Given the description of an element on the screen output the (x, y) to click on. 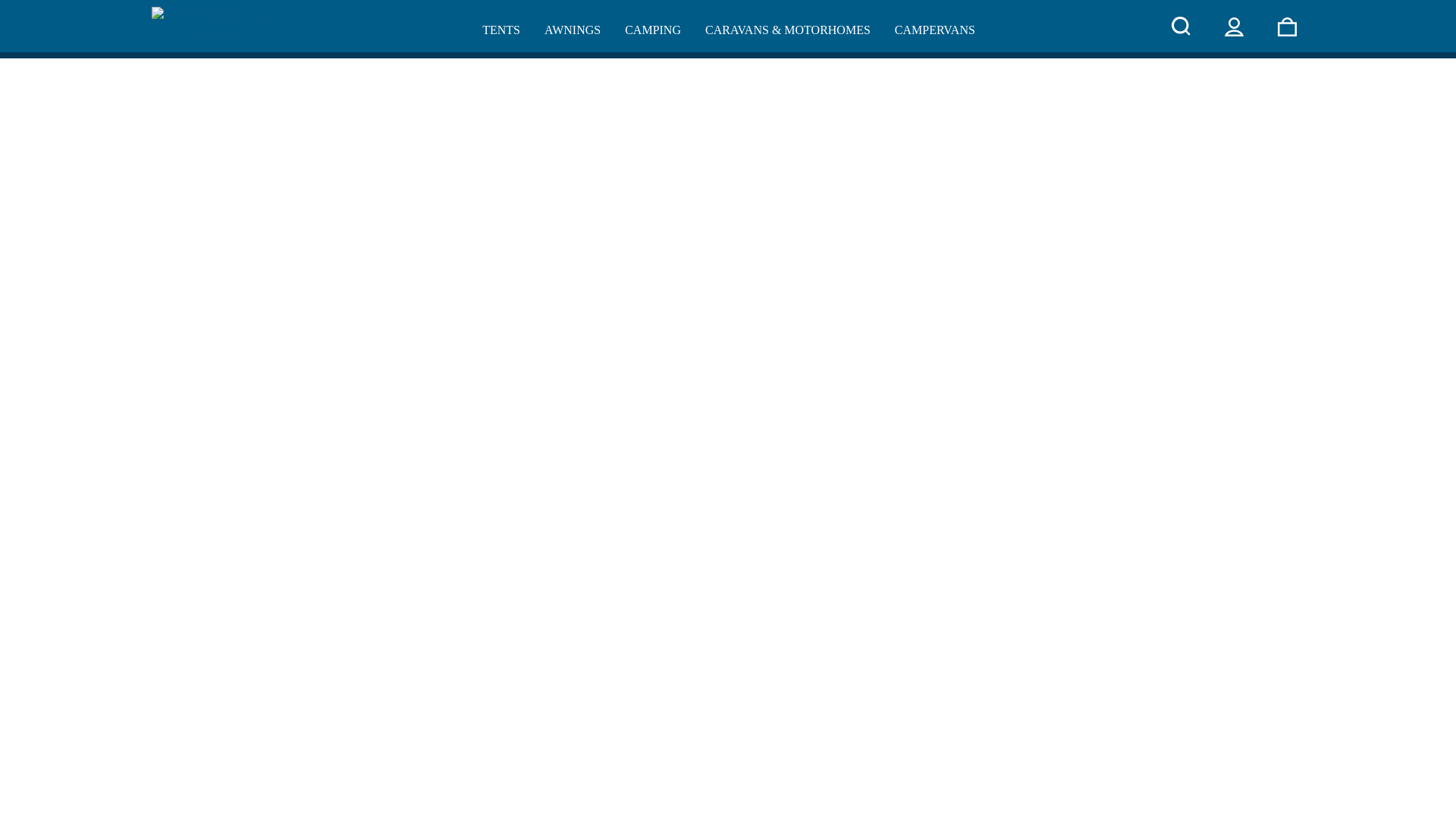
Search (1181, 26)
